Given the description of an element on the screen output the (x, y) to click on. 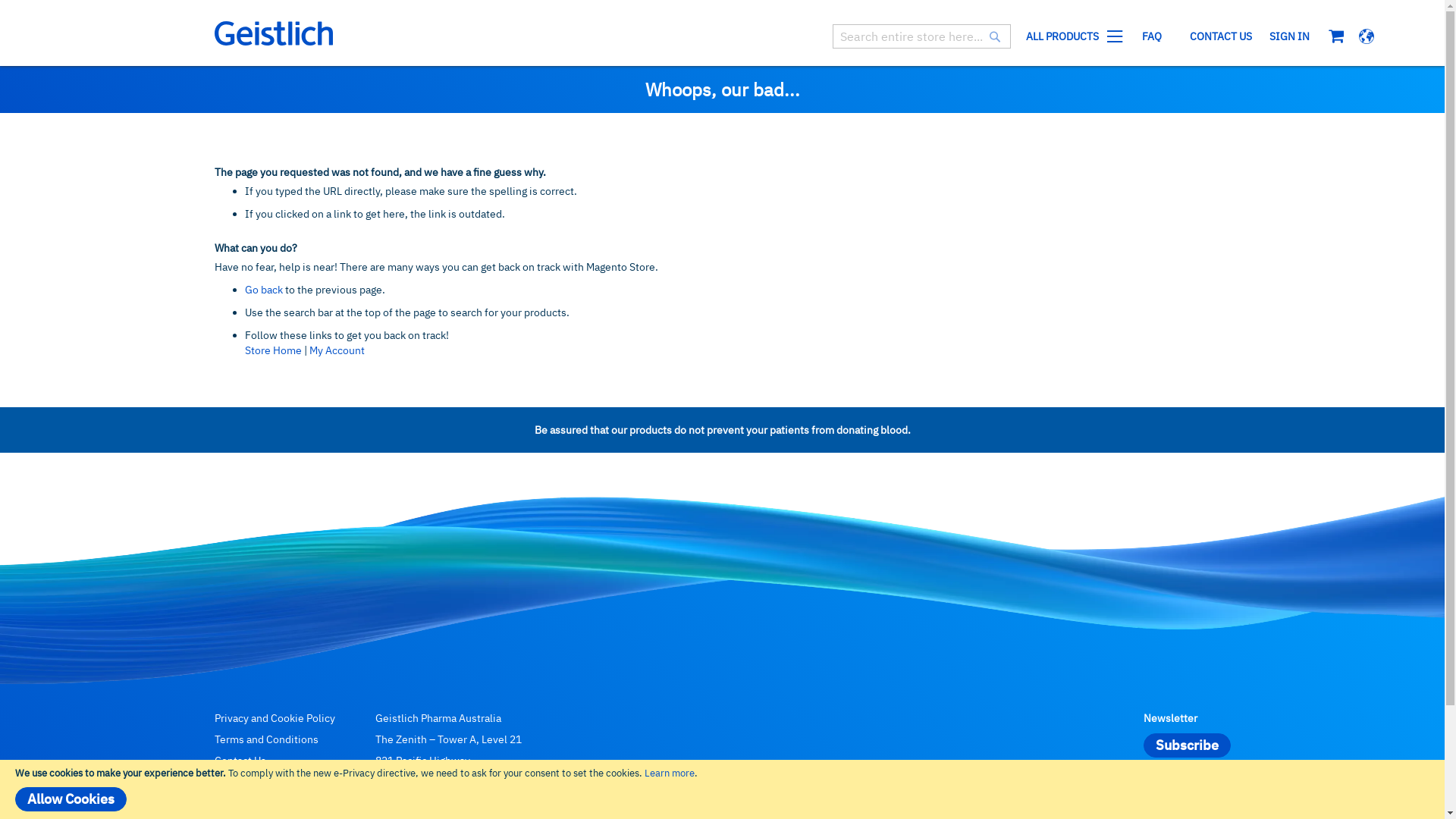
FAQ Element type: text (1151, 36)
My Cart Element type: text (1335, 35)
Go back Element type: text (263, 289)
SIGN IN Element type: text (1289, 36)
Contact Us Element type: text (239, 760)
Geistlich Element type: hover (272, 33)
Subscribe Element type: text (1186, 745)
Learn more Element type: text (669, 772)
CONTACT US Element type: text (1220, 36)
Allow Cookies Element type: text (70, 799)
Subscribe Element type: text (1186, 744)
My Account Element type: text (336, 350)
FAQ Element type: text (223, 781)
Store Home Element type: text (272, 350)
info@geistlich.com.au Element type: text (459, 802)
Search Element type: text (994, 37)
Terms and Conditions Element type: text (265, 739)
Privacy and Cookie Policy Element type: text (273, 717)
ALL PRODUCTS Element type: text (1070, 36)
